Given the description of an element on the screen output the (x, y) to click on. 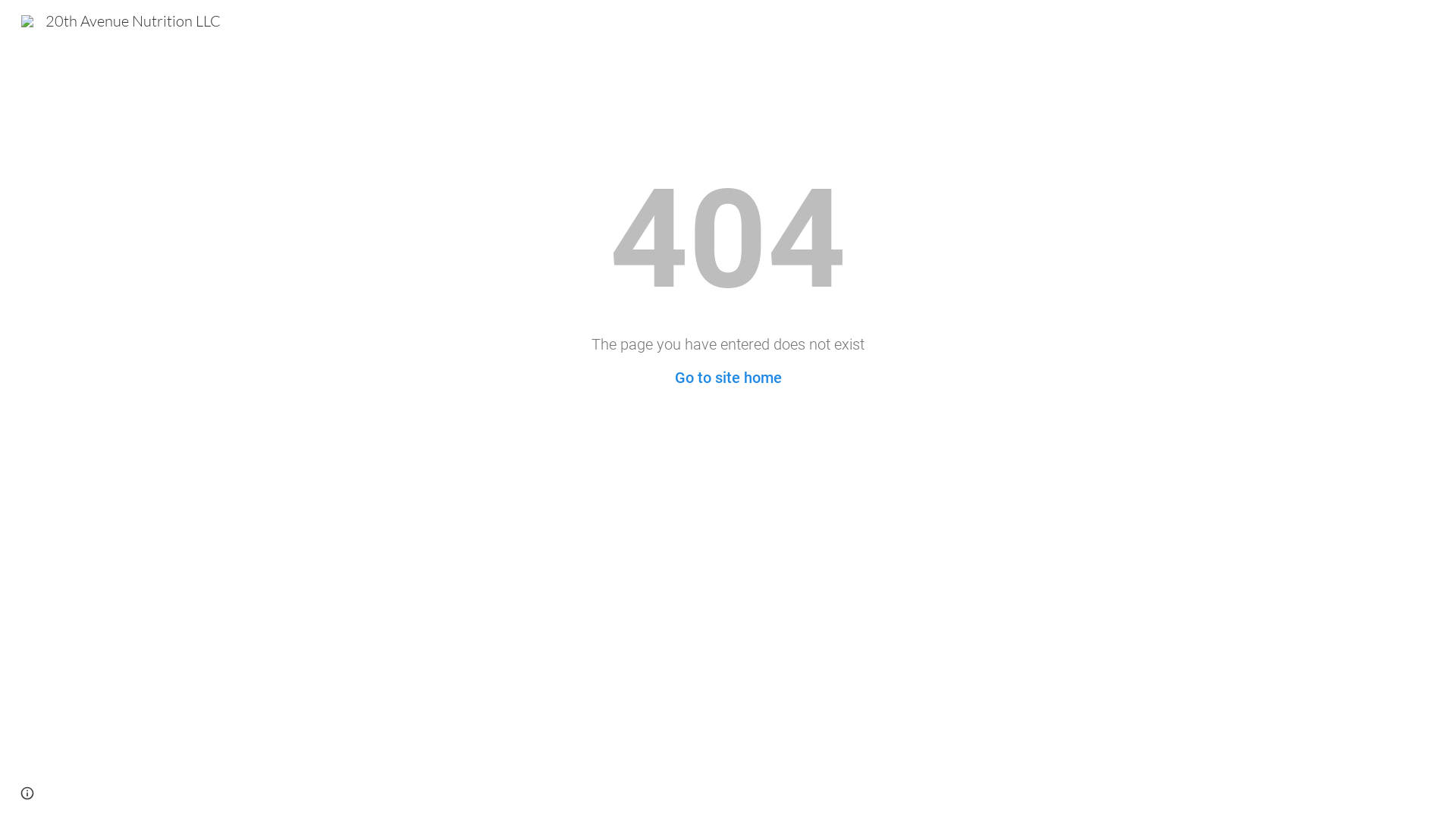
Go to site home Element type: text (727, 377)
20th Avenue Nutrition LLC Element type: text (120, 18)
